Given the description of an element on the screen output the (x, y) to click on. 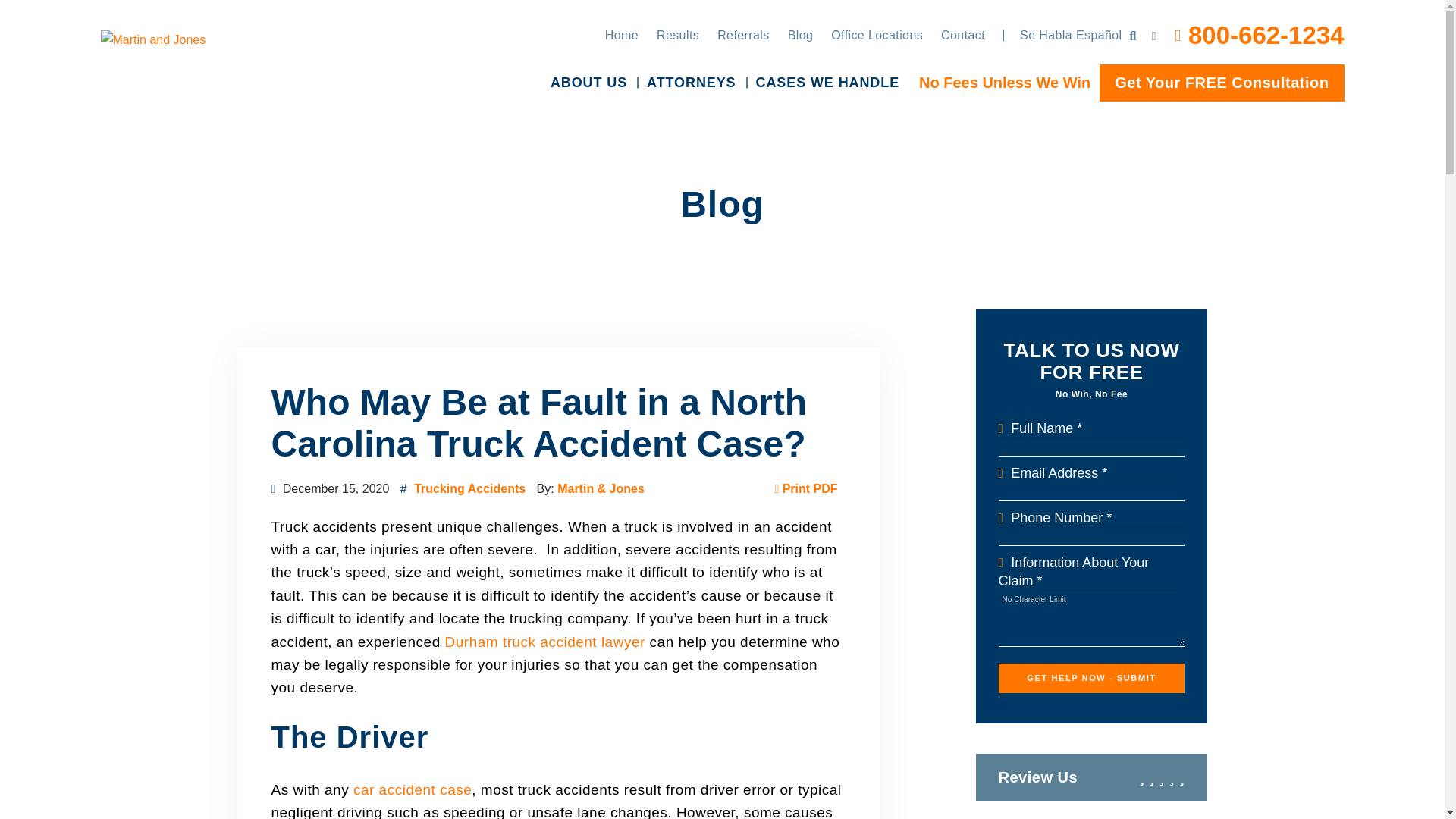
Print PDF (805, 488)
